Given the description of an element on the screen output the (x, y) to click on. 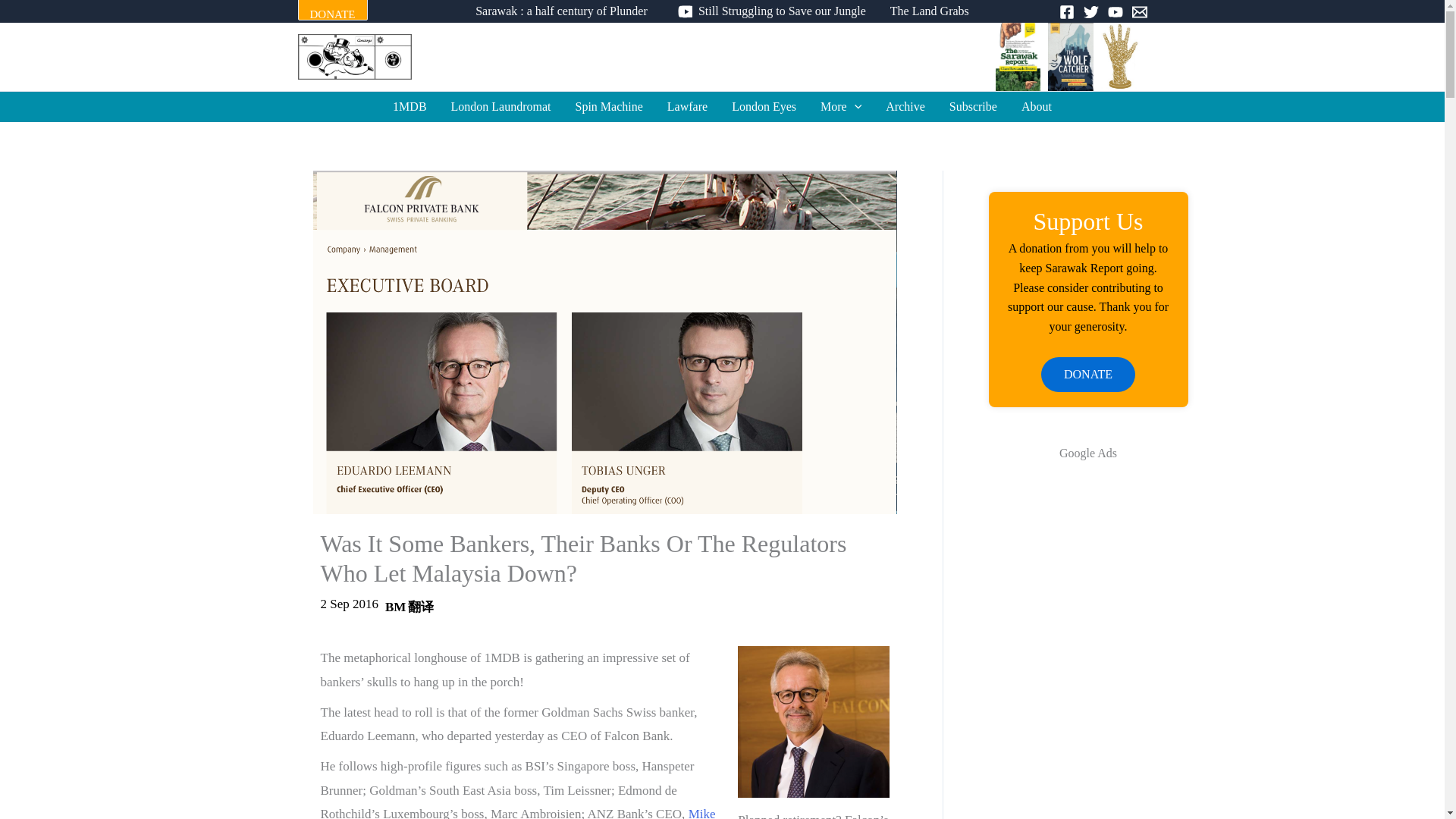
Lawfare (687, 106)
Still Struggling to Save our Jungle (768, 11)
More (840, 106)
Archive (905, 106)
Sarawak : a half century of Plunder (561, 11)
The Land Grabs (929, 11)
SarawakReport (722, 56)
DONATE (331, 14)
Subscribe (973, 106)
DONATE (331, 10)
London Eyes (763, 106)
1MDB (409, 106)
London Laundromat (501, 106)
Spin Machine (609, 106)
About (1036, 106)
